Given the description of an element on the screen output the (x, y) to click on. 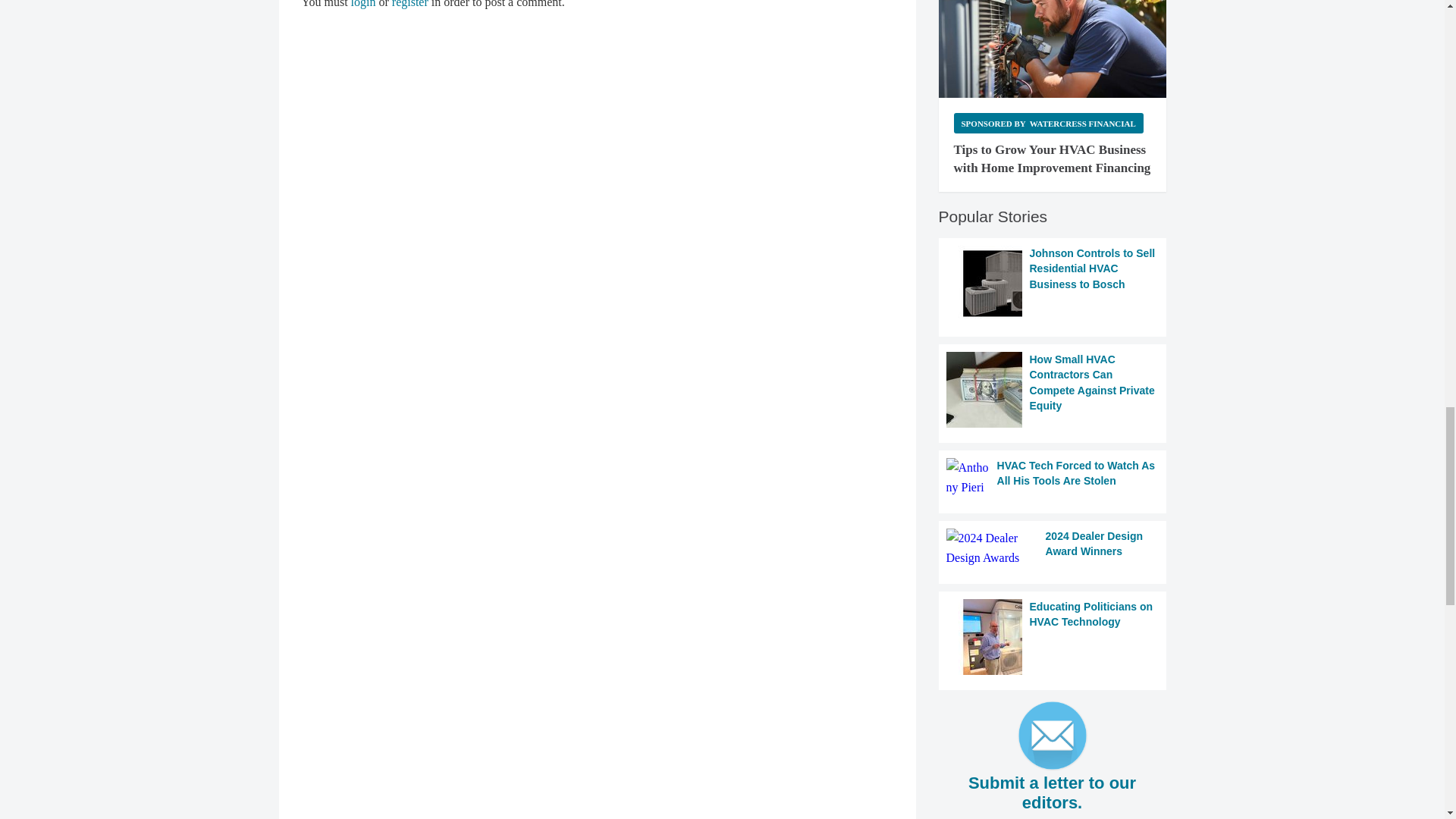
2024 Dealer Design Award Winners (1052, 548)
Sponsored by Watercress Financial (1047, 123)
Johnson Controls to Sell Residential HVAC Business to Bosch (1052, 283)
HVAC Tech Forced to Watch As All His Tools Are Stolen (1052, 477)
Educating Politicians on HVAC Technology (1052, 636)
Technician Working on HVAC Unit (1052, 48)
